Given the description of an element on the screen output the (x, y) to click on. 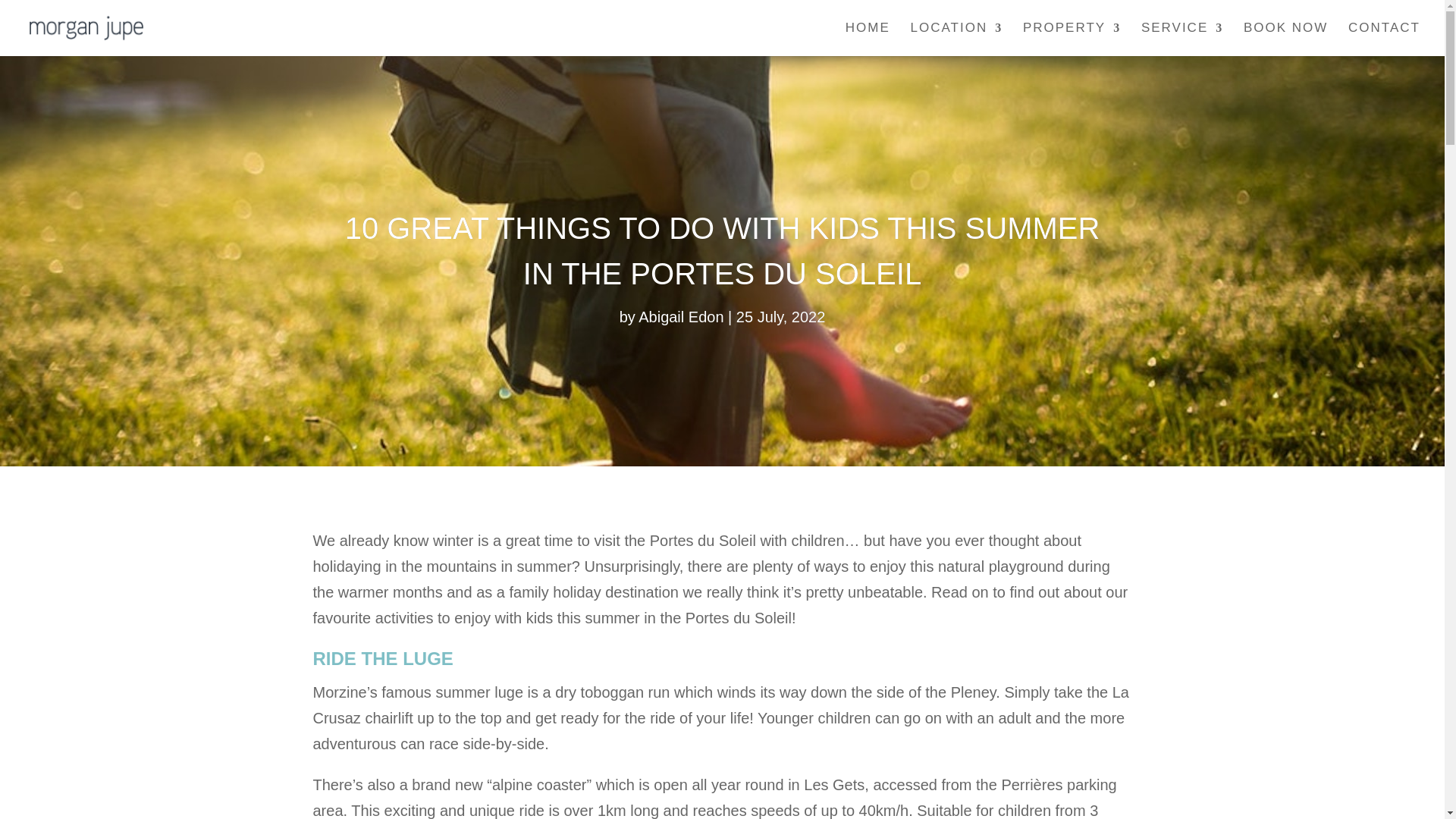
BOOK NOW (1285, 39)
PROPERTY (1072, 39)
HOME (867, 39)
CONTACT (1384, 39)
SERVICE (1182, 39)
Posts by Abigail Edon (681, 316)
LOCATION (957, 39)
